Given the description of an element on the screen output the (x, y) to click on. 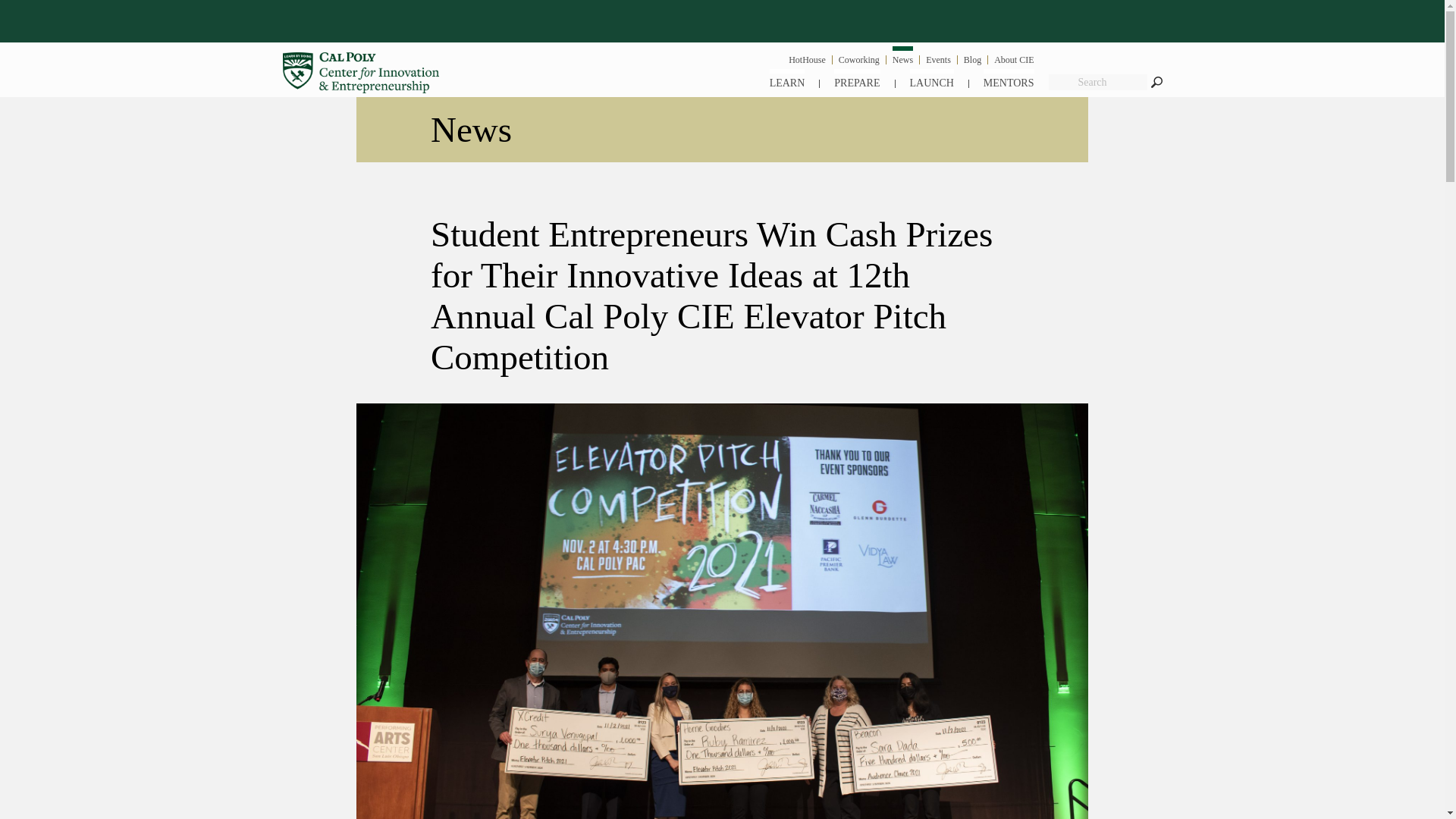
PREPARE (856, 77)
Search (1156, 81)
Blog (972, 57)
News (902, 55)
Search (1156, 81)
Search (1156, 81)
Events (938, 57)
MENTORS (1008, 77)
Coworking (858, 57)
HotHouse (807, 57)
About CIE (1013, 57)
LEARN (787, 77)
LAUNCH (931, 77)
Search (1097, 82)
